Given the description of an element on the screen output the (x, y) to click on. 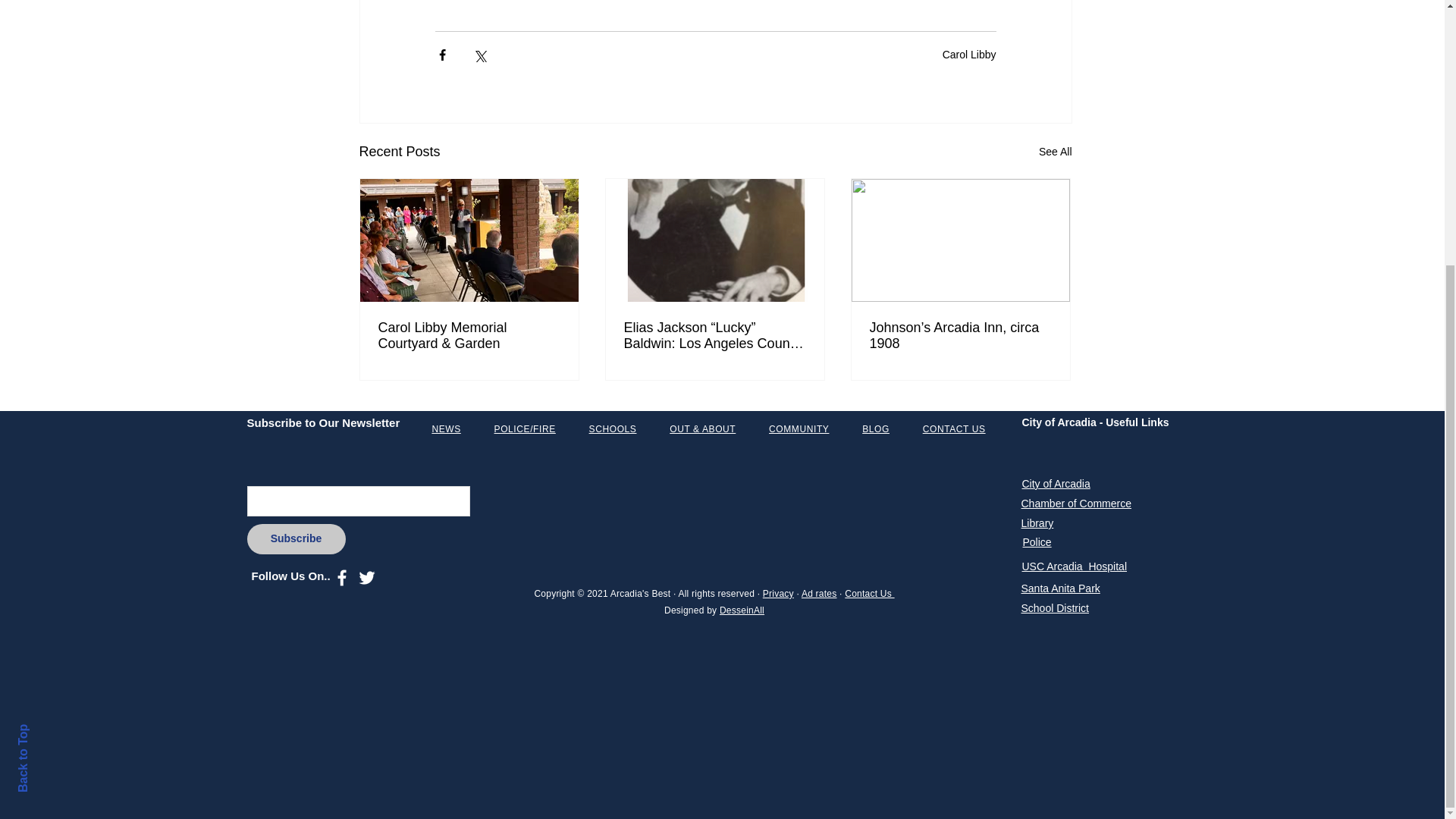
See All (1055, 151)
Carol Libby (968, 53)
